Given the description of an element on the screen output the (x, y) to click on. 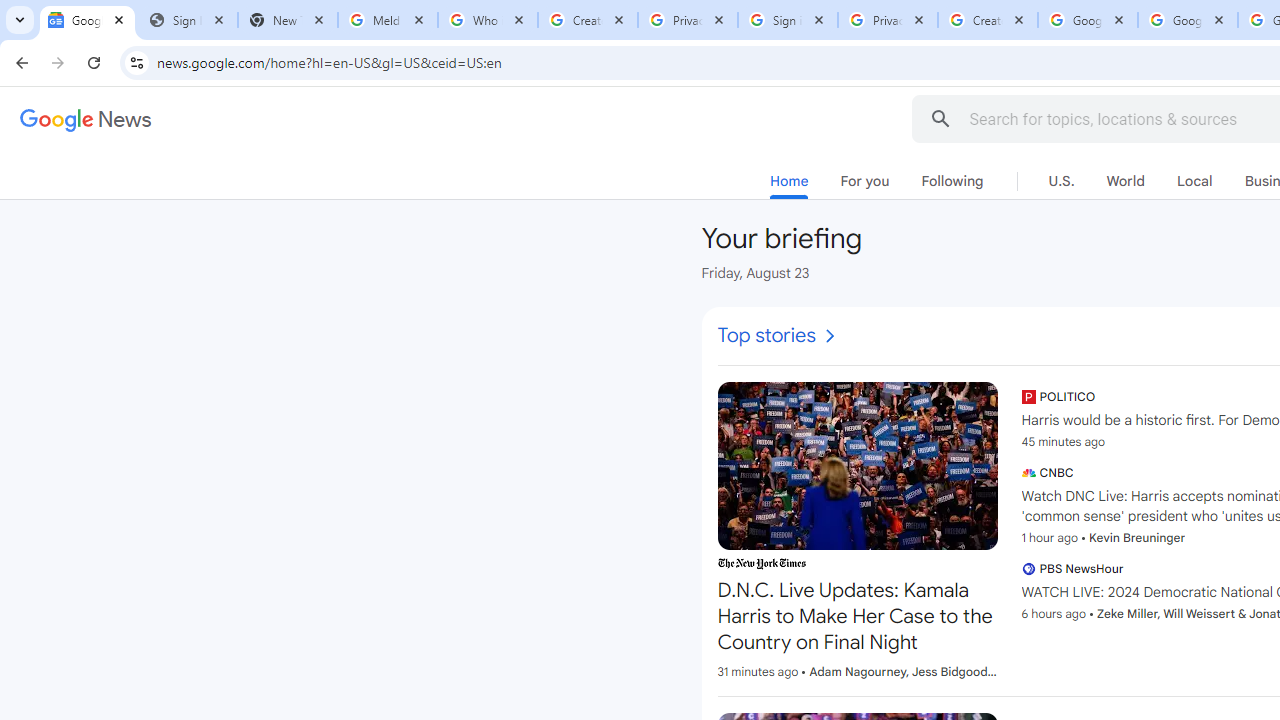
AutomationID: i10 (829, 336)
Sign In - USA TODAY (188, 20)
Google News (86, 120)
Top stories (777, 336)
Home (789, 185)
World (1125, 181)
Create your Google Account (988, 20)
New Tab (287, 20)
Google News (87, 20)
Sign in - Google Accounts (788, 20)
